Given the description of an element on the screen output the (x, y) to click on. 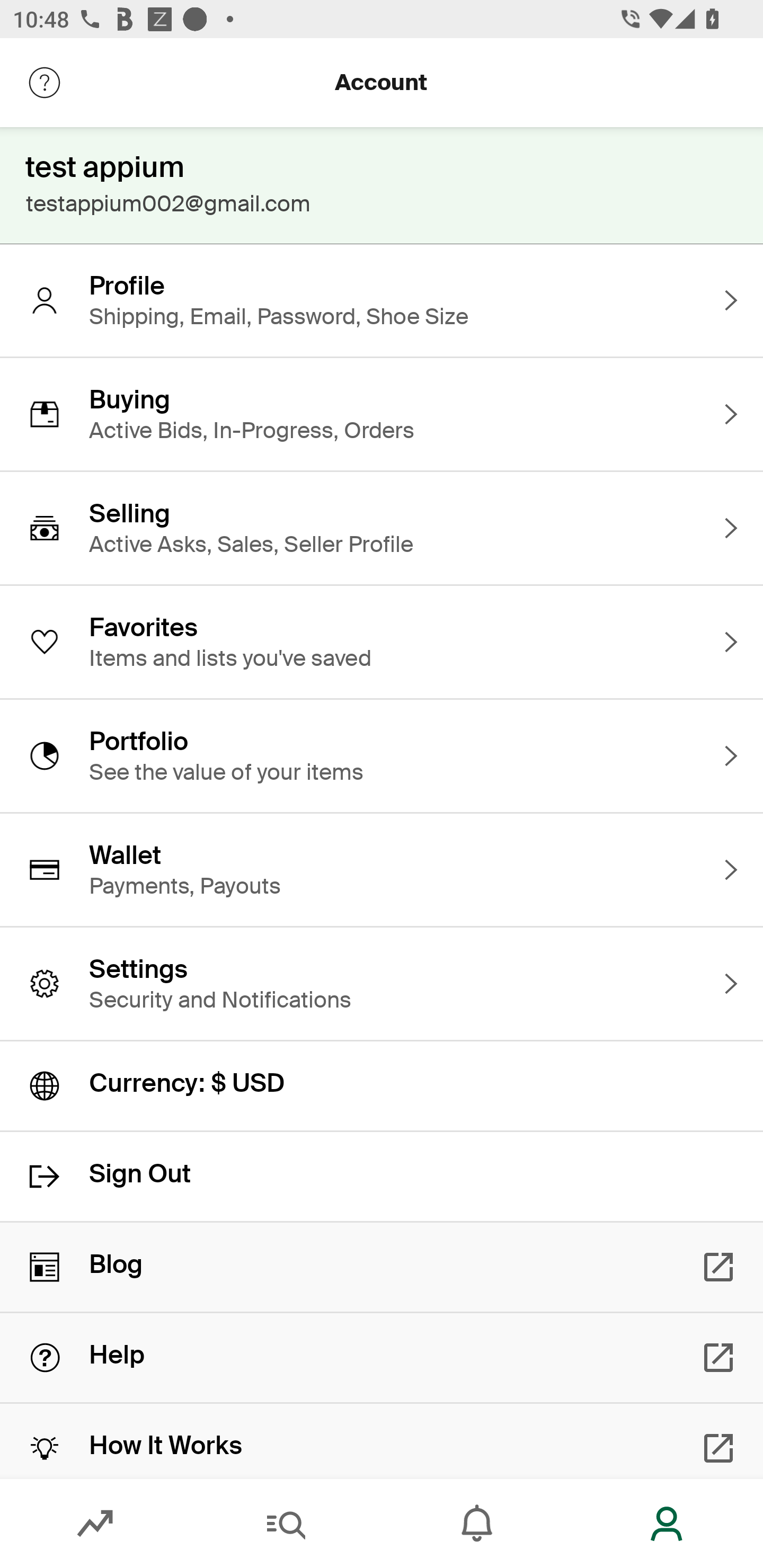
Profile Shipping, Email, Password, Shoe Size (381, 299)
Buying Active Bids, In-Progress, Orders (381, 413)
Selling Active Asks, Sales, Seller Profile (381, 527)
Favorites Items and lists you've saved (381, 641)
Portfolio See the value of your items (381, 755)
Wallet Payments, Payouts (381, 869)
Settings Security and Notifications (381, 983)
Currency: $ USD (381, 1085)
Sign Out (381, 1176)
Blog (381, 1266)
Help (381, 1357)
How It Works (381, 1440)
Market (95, 1523)
Search (285, 1523)
Inbox (476, 1523)
